Given the description of an element on the screen output the (x, y) to click on. 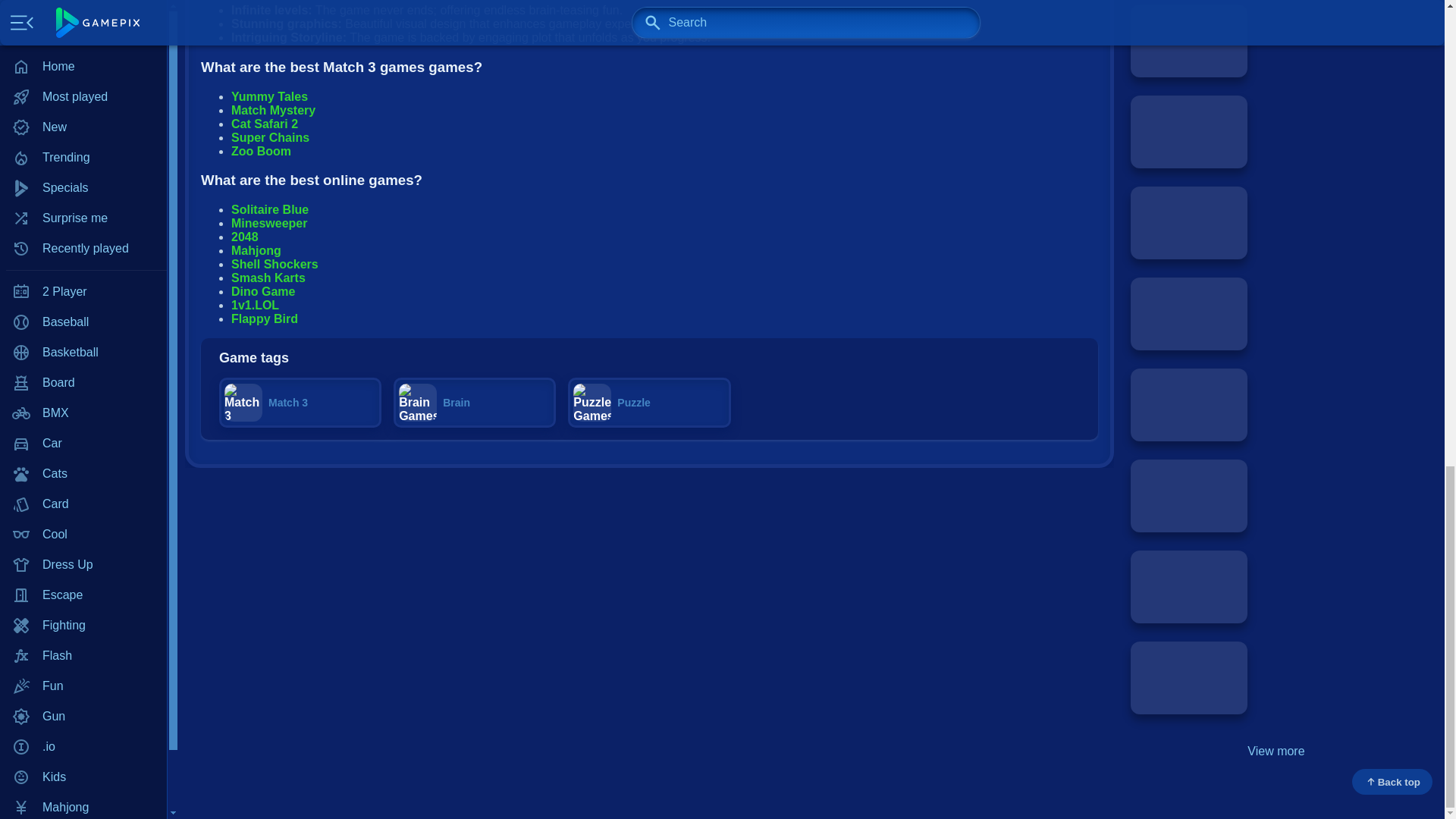
Zombie (83, 110)
War (83, 49)
Word (83, 79)
Soccer (83, 19)
Snake (83, 2)
